Given the description of an element on the screen output the (x, y) to click on. 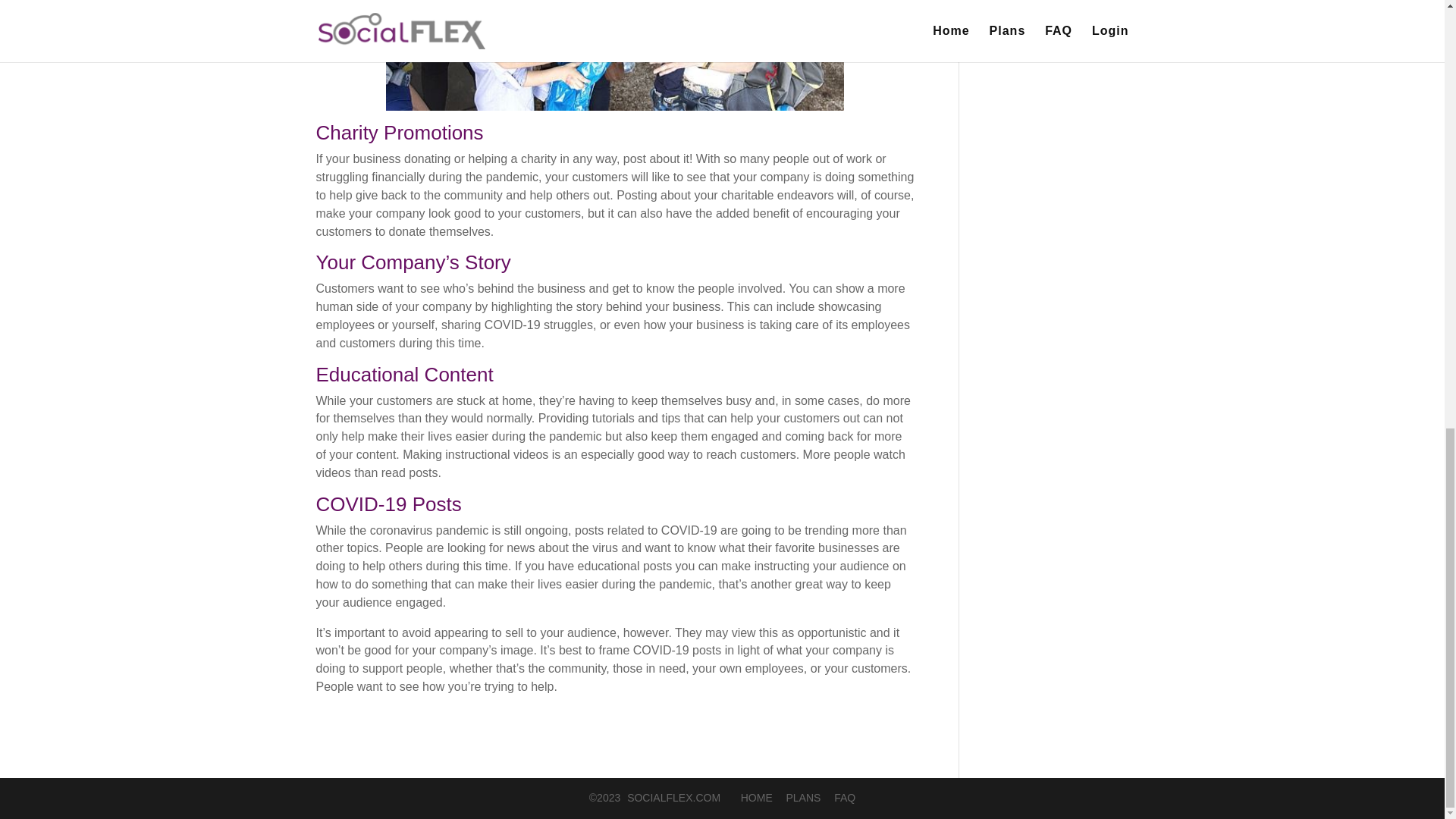
  HOME (749, 797)
FAQ (845, 797)
PLANS (803, 797)
